Given the description of an element on the screen output the (x, y) to click on. 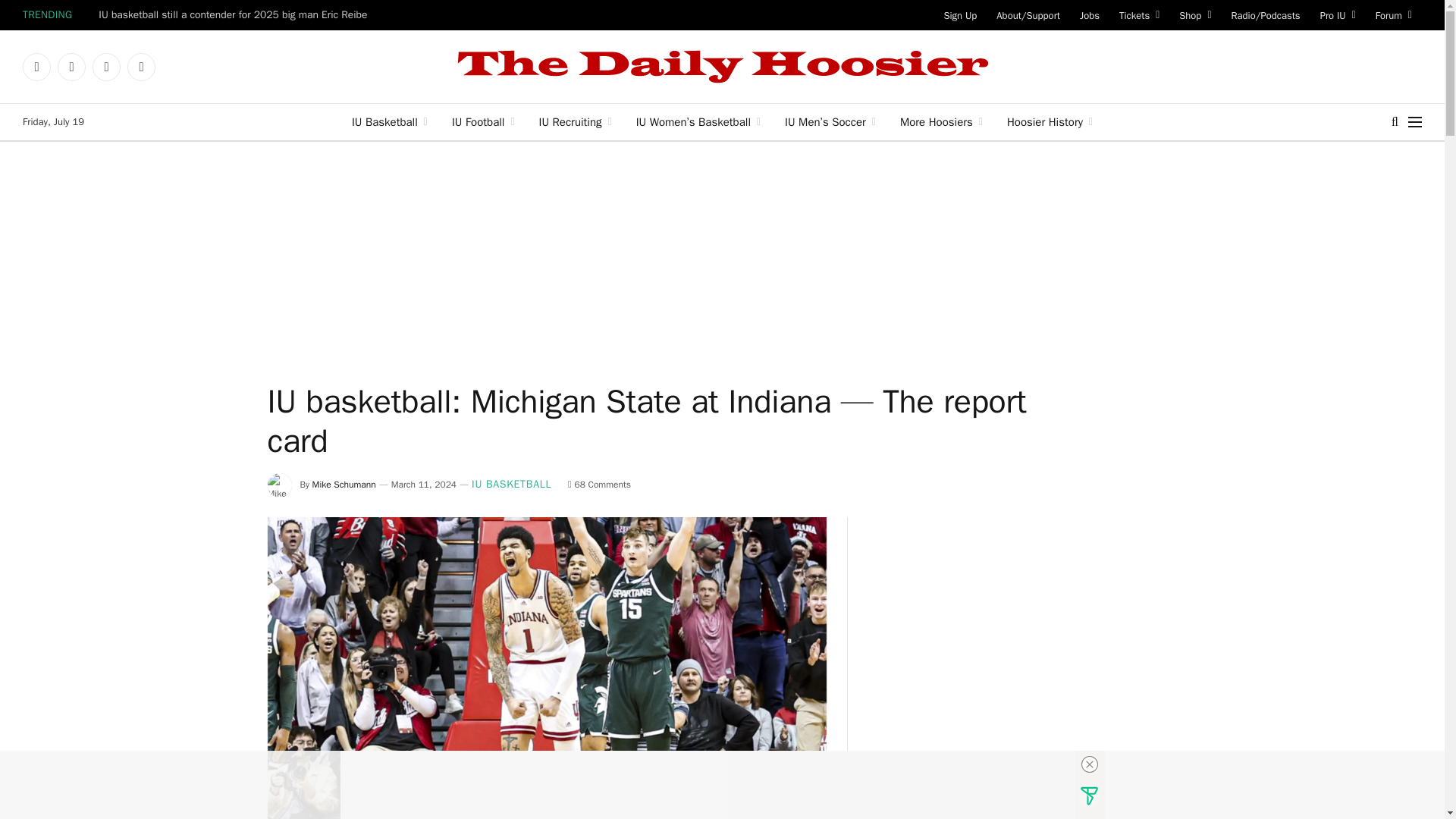
Facebook (36, 67)
Jobs (1089, 15)
The Daily Hoosier (722, 66)
Pro IU (1337, 15)
Forum (1393, 15)
IU Basketball (389, 122)
YouTube (141, 67)
Shop (1195, 15)
Posts by Mike Schumann (344, 484)
Tickets (1139, 15)
Instagram (106, 67)
Sign Up (960, 15)
IU basketball still a contender for 2025 big man Eric Reibe (236, 15)
